Given the description of an element on the screen output the (x, y) to click on. 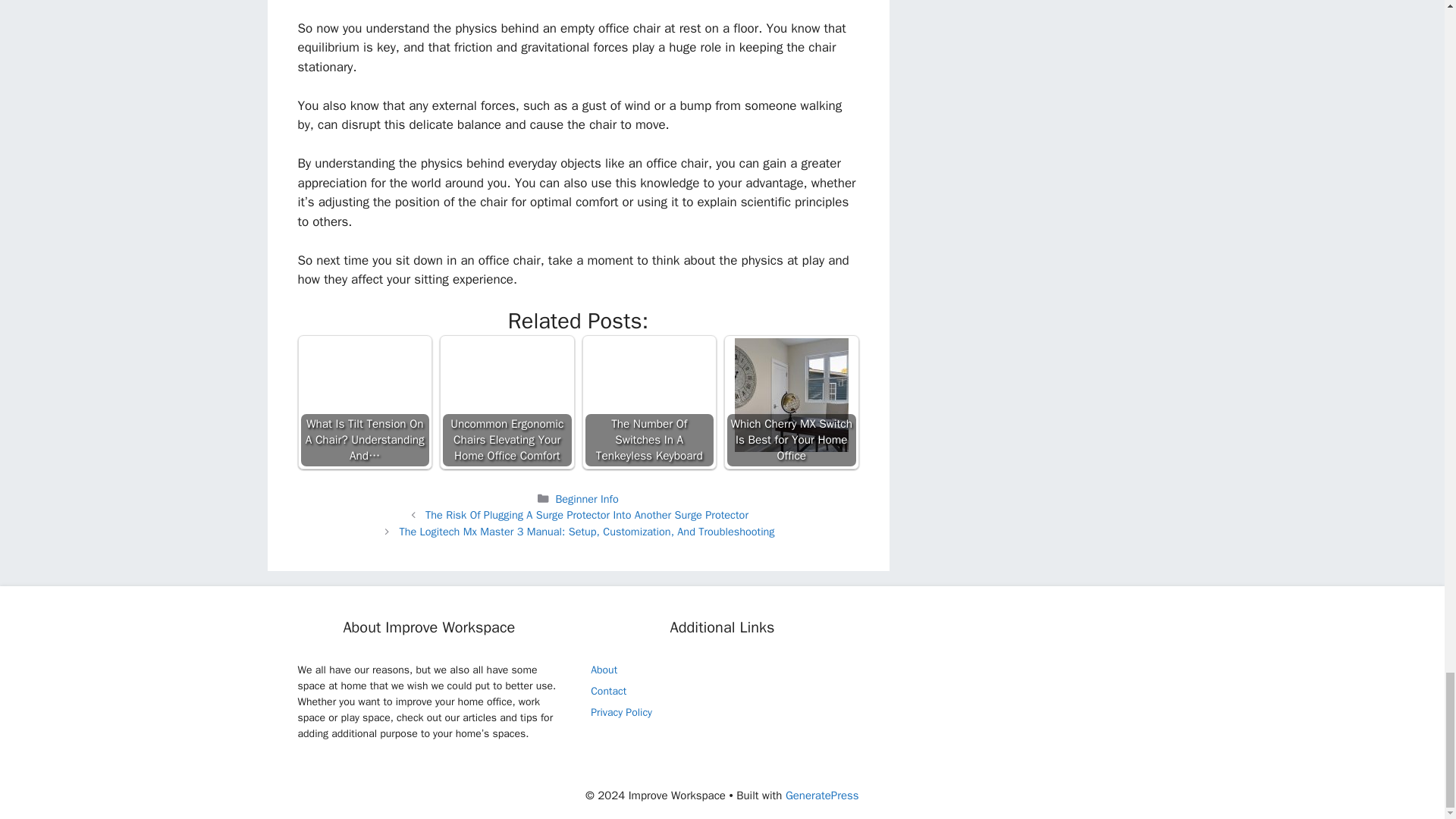
Which Cherry MX Switch Is Best for Your Home Office (792, 401)
The Number Of Switches In A Tenkeyless Keyboard (649, 401)
The Number Of Switches In A Tenkeyless Keyboard (649, 395)
Uncommon Ergonomic Chairs Elevating Your Home Office Comfort (506, 395)
Beginner Info (585, 499)
Uncommon Ergonomic Chairs Elevating Your Home Office Comfort (507, 401)
Which Cherry MX Switch Is Best for Your Home Office (791, 395)
About (604, 669)
